Given the description of an element on the screen output the (x, y) to click on. 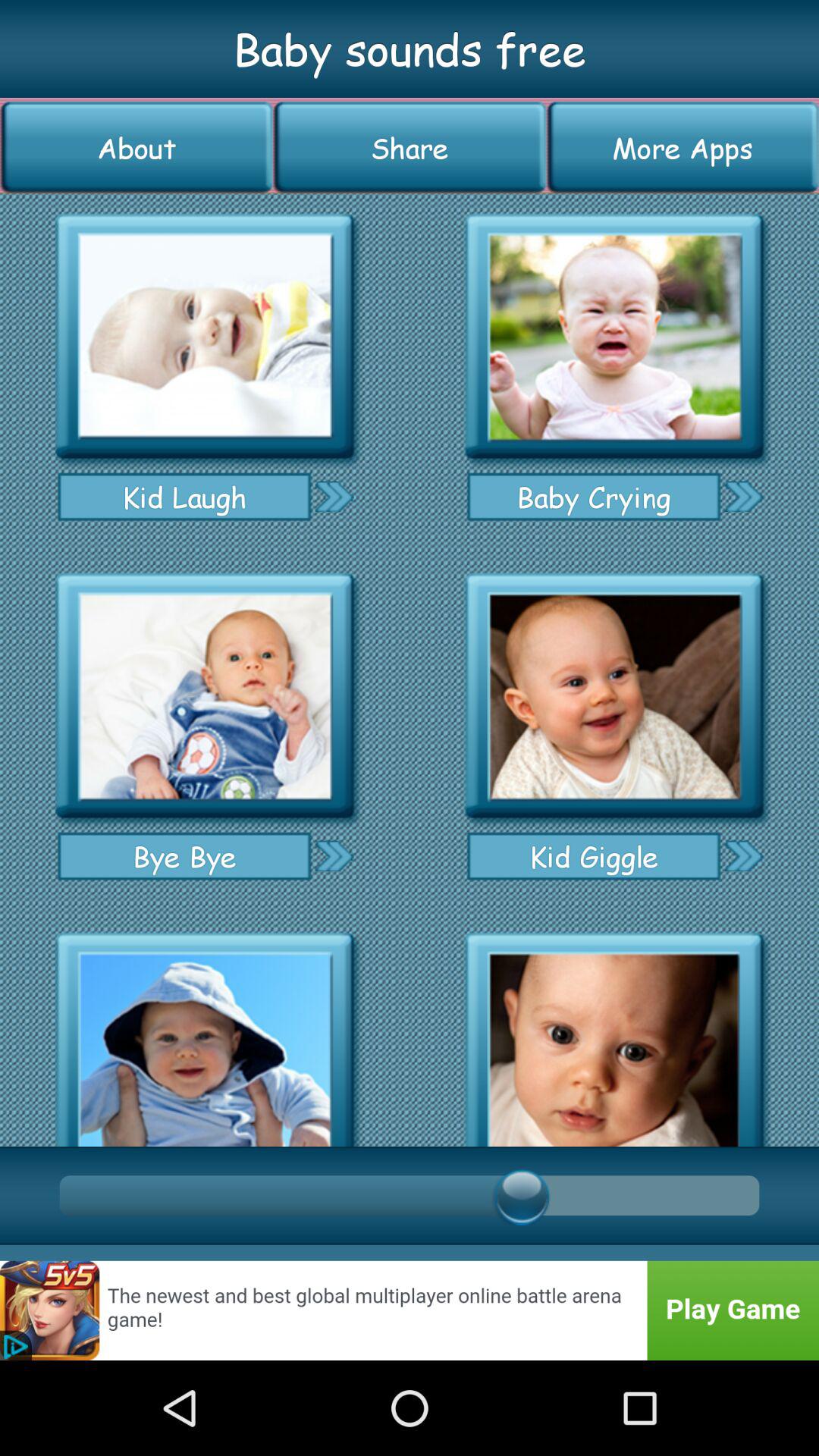
kidlaugh (204, 336)
